Given the description of an element on the screen output the (x, y) to click on. 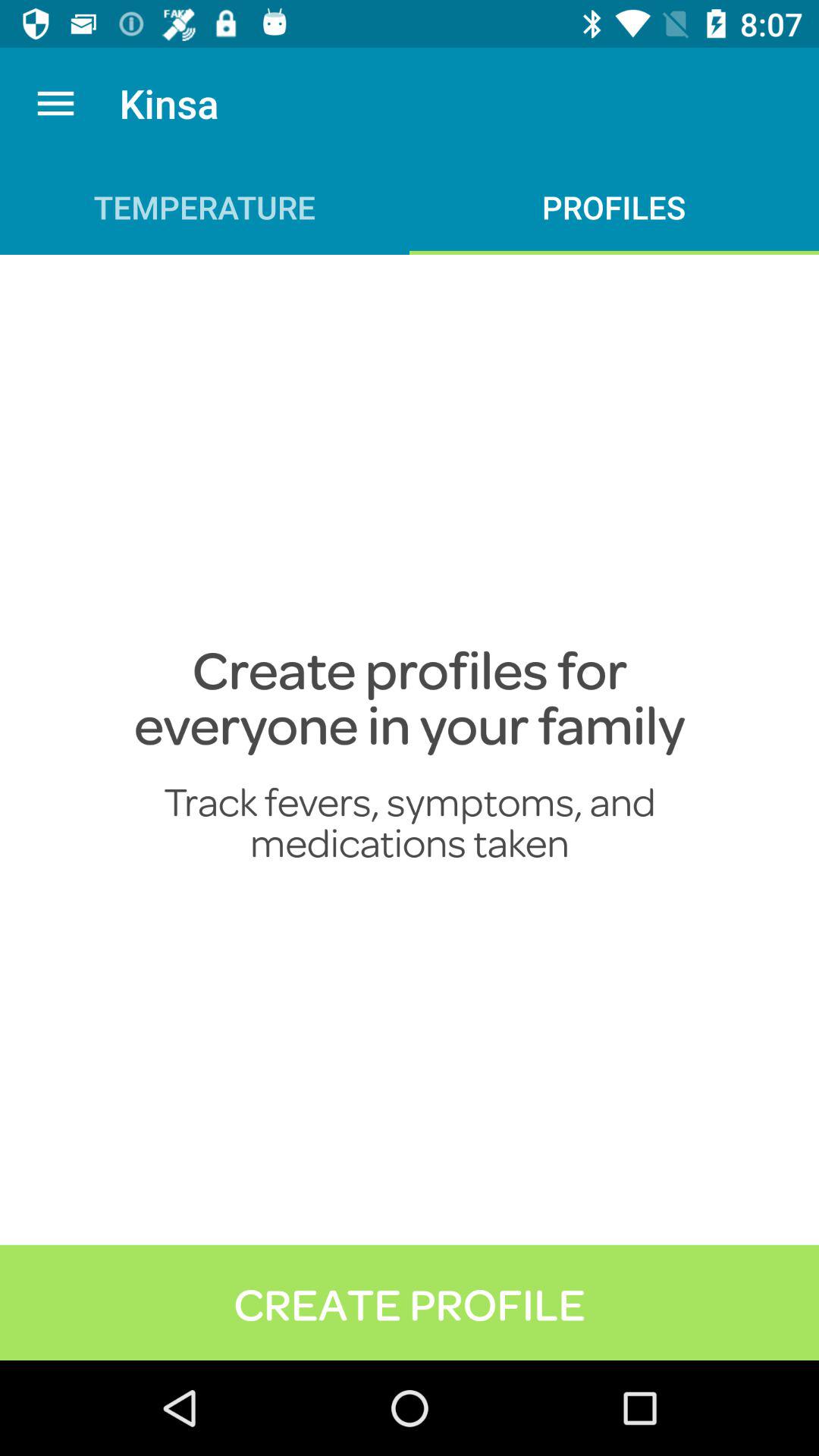
press create profile item (409, 1302)
